Given the description of an element on the screen output the (x, y) to click on. 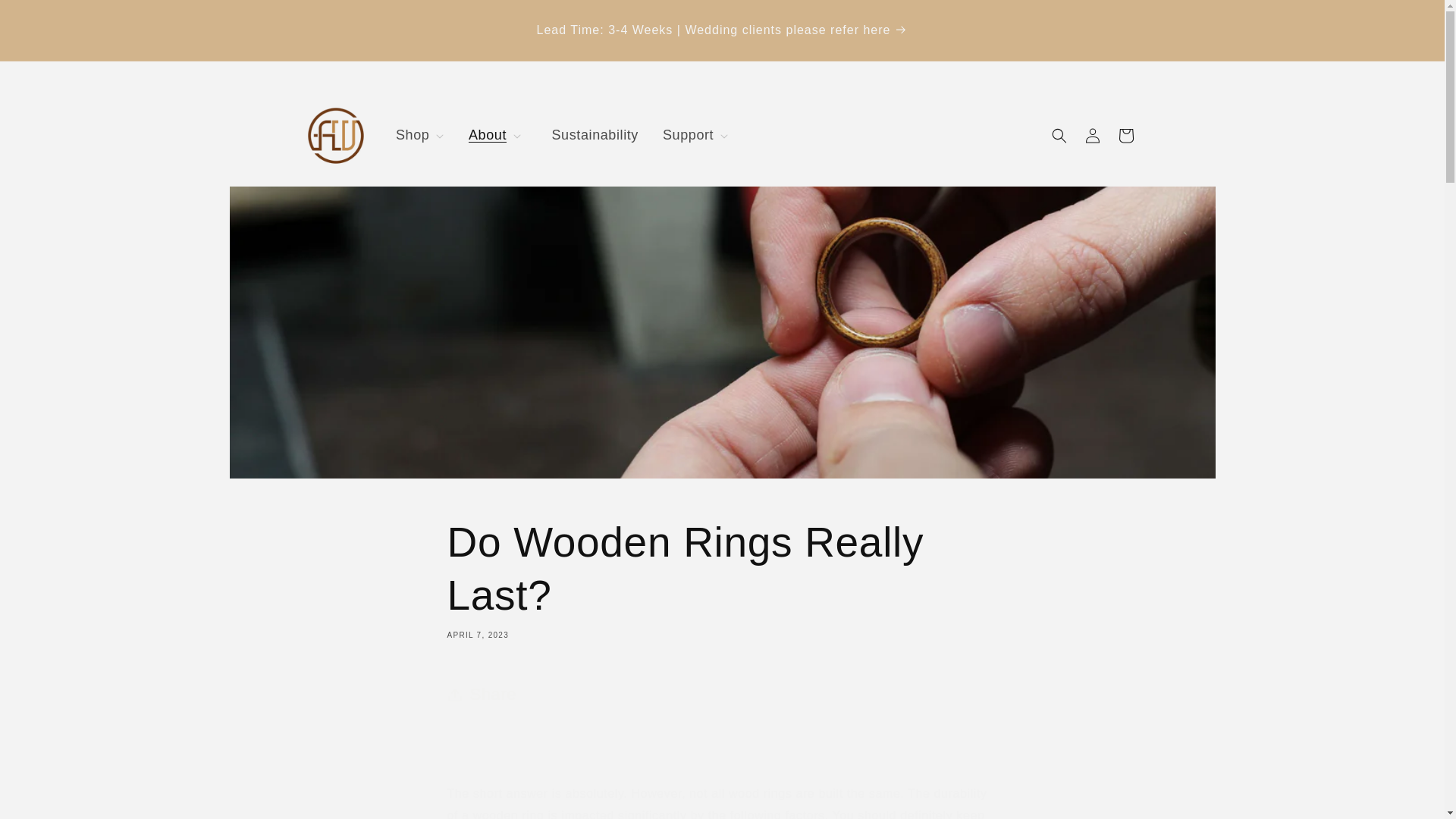
Share (721, 725)
